Given the description of an element on the screen output the (x, y) to click on. 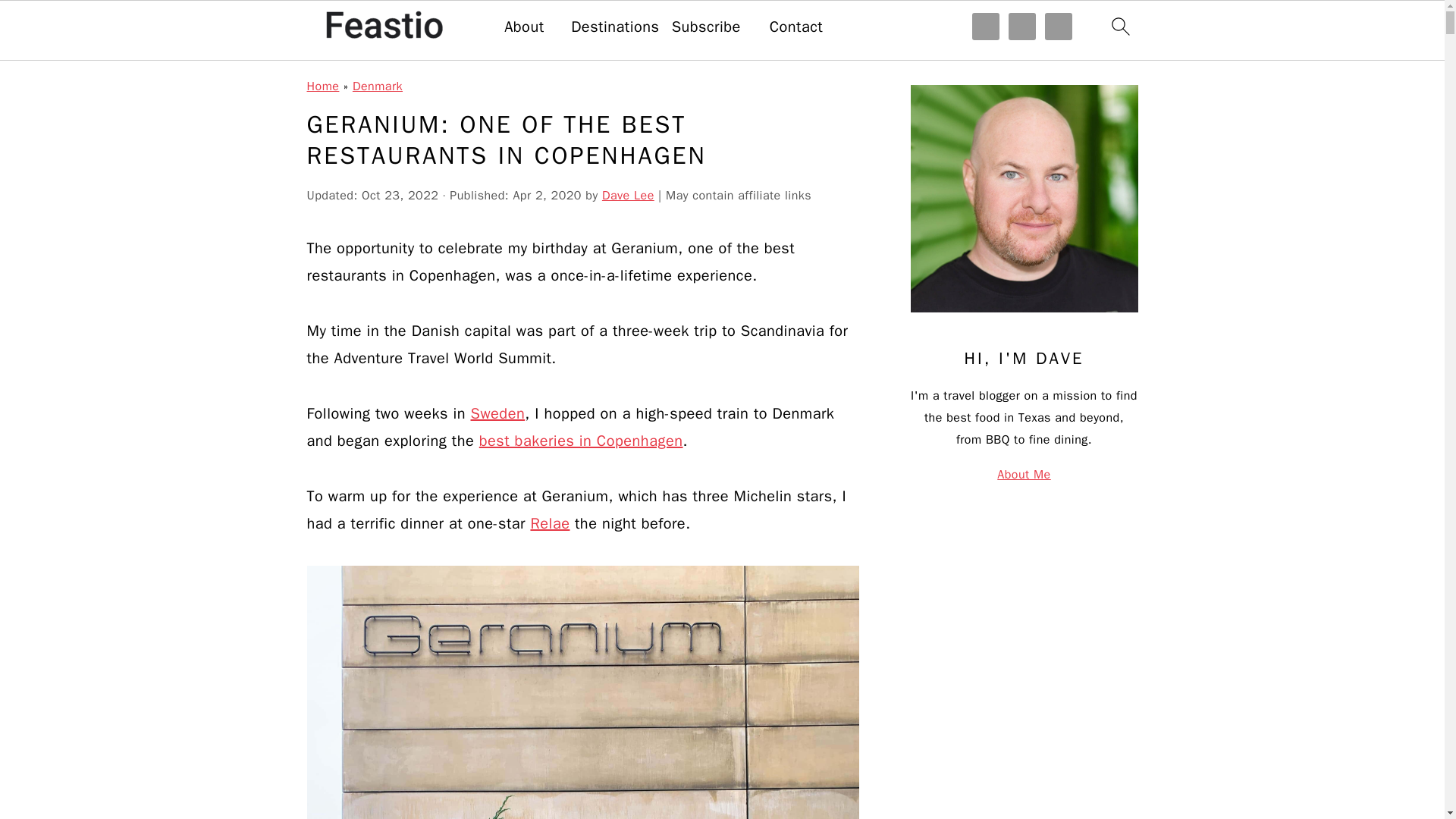
Dave Lee (627, 195)
Home (322, 86)
Sweden (497, 413)
search icon (1119, 30)
best bakeries in Copenhagen (580, 440)
Denmark (377, 86)
search icon (1119, 26)
Destinations (614, 27)
Contact (797, 27)
Relae (549, 523)
Subscribe (706, 27)
About (523, 27)
